Given the description of an element on the screen output the (x, y) to click on. 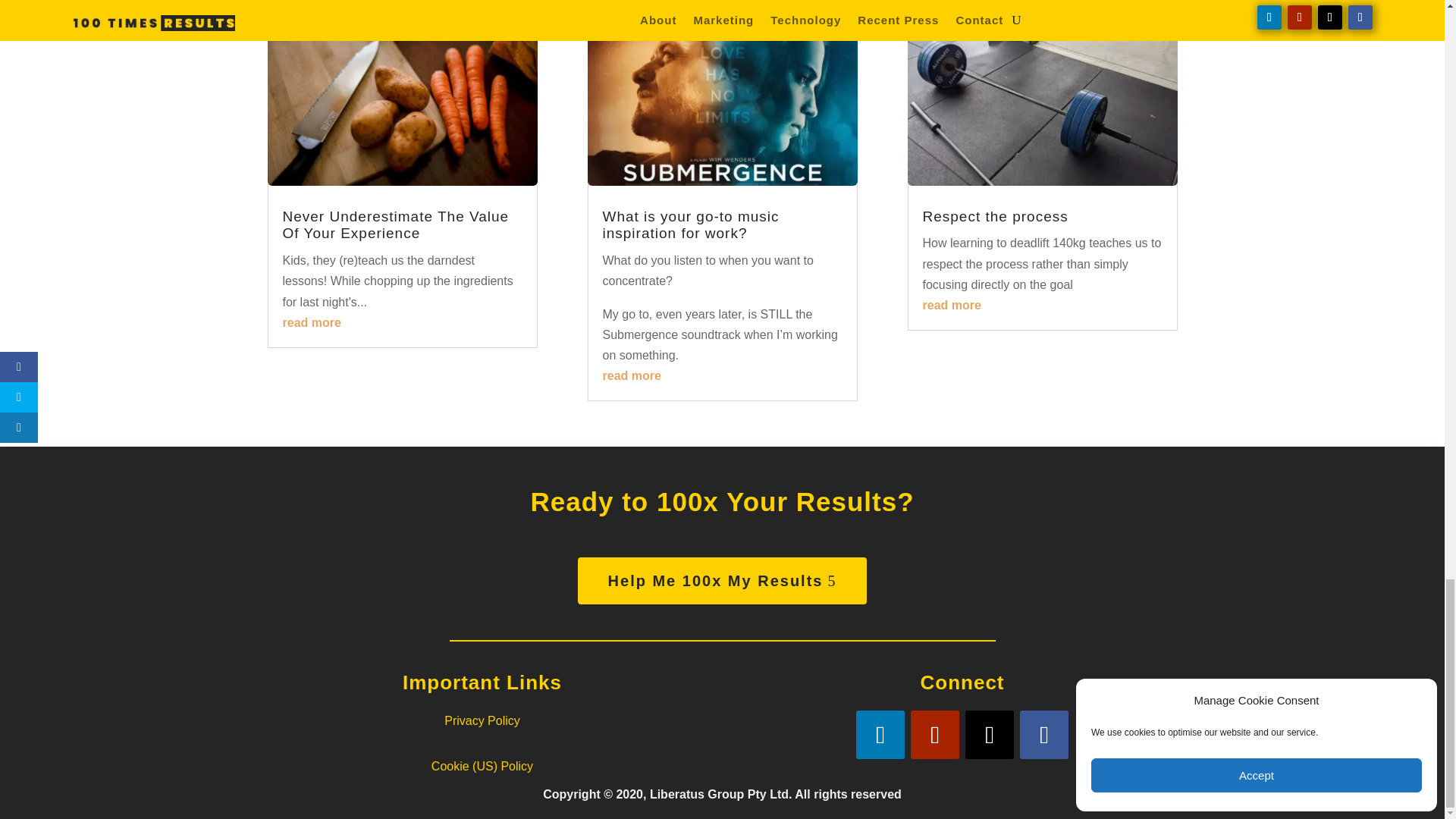
Follow on X (989, 734)
Follow on LinkedIn (880, 734)
Follow on Youtube (935, 734)
Follow on Facebook (1044, 734)
